Given the description of an element on the screen output the (x, y) to click on. 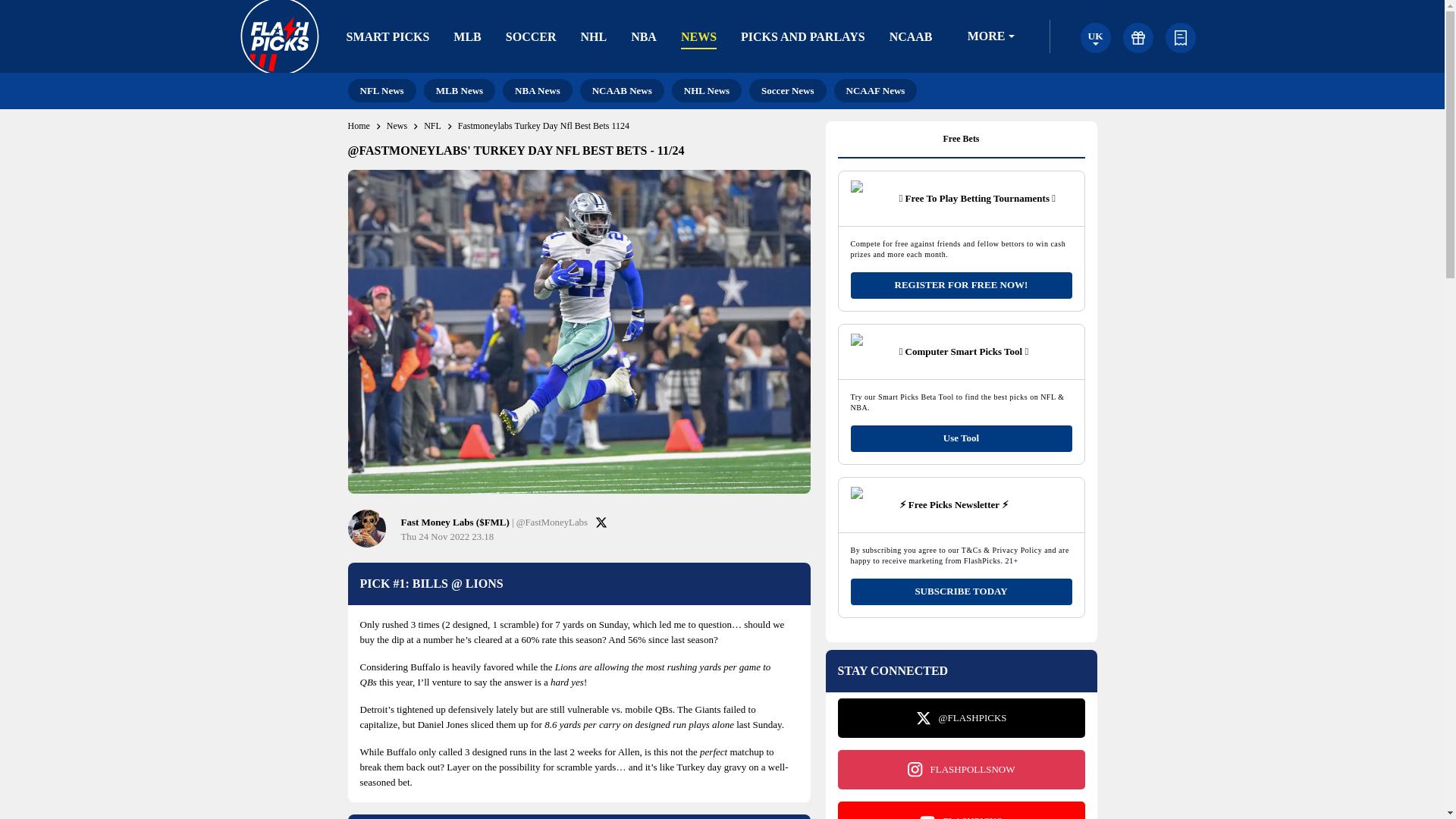
Home (358, 126)
NBA News (537, 90)
NCAAF News (875, 90)
NFL (432, 126)
PICKS AND PARLAYS (802, 36)
MLB News (459, 90)
News (397, 126)
Soccer News (787, 90)
NCAAB (911, 36)
NFL News (380, 90)
